Given the description of an element on the screen output the (x, y) to click on. 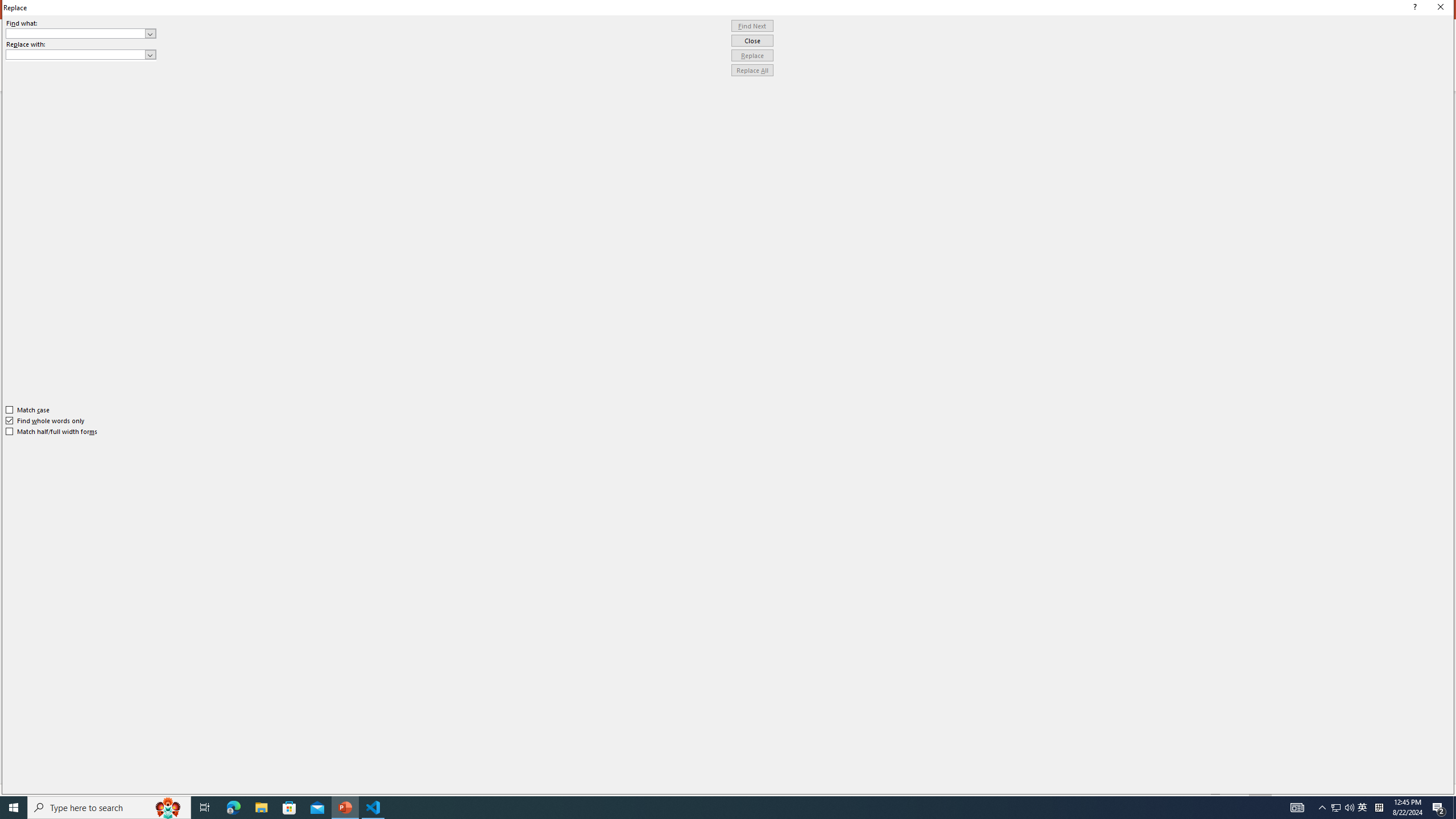
Find whole words only (45, 420)
Find what (75, 33)
Find what (80, 33)
Replace with (75, 53)
Match half/full width forms (52, 431)
Replace with (80, 54)
Match case (27, 409)
Replace (752, 55)
Context help (1413, 8)
Find Next (752, 25)
Replace All (752, 69)
